Given the description of an element on the screen output the (x, y) to click on. 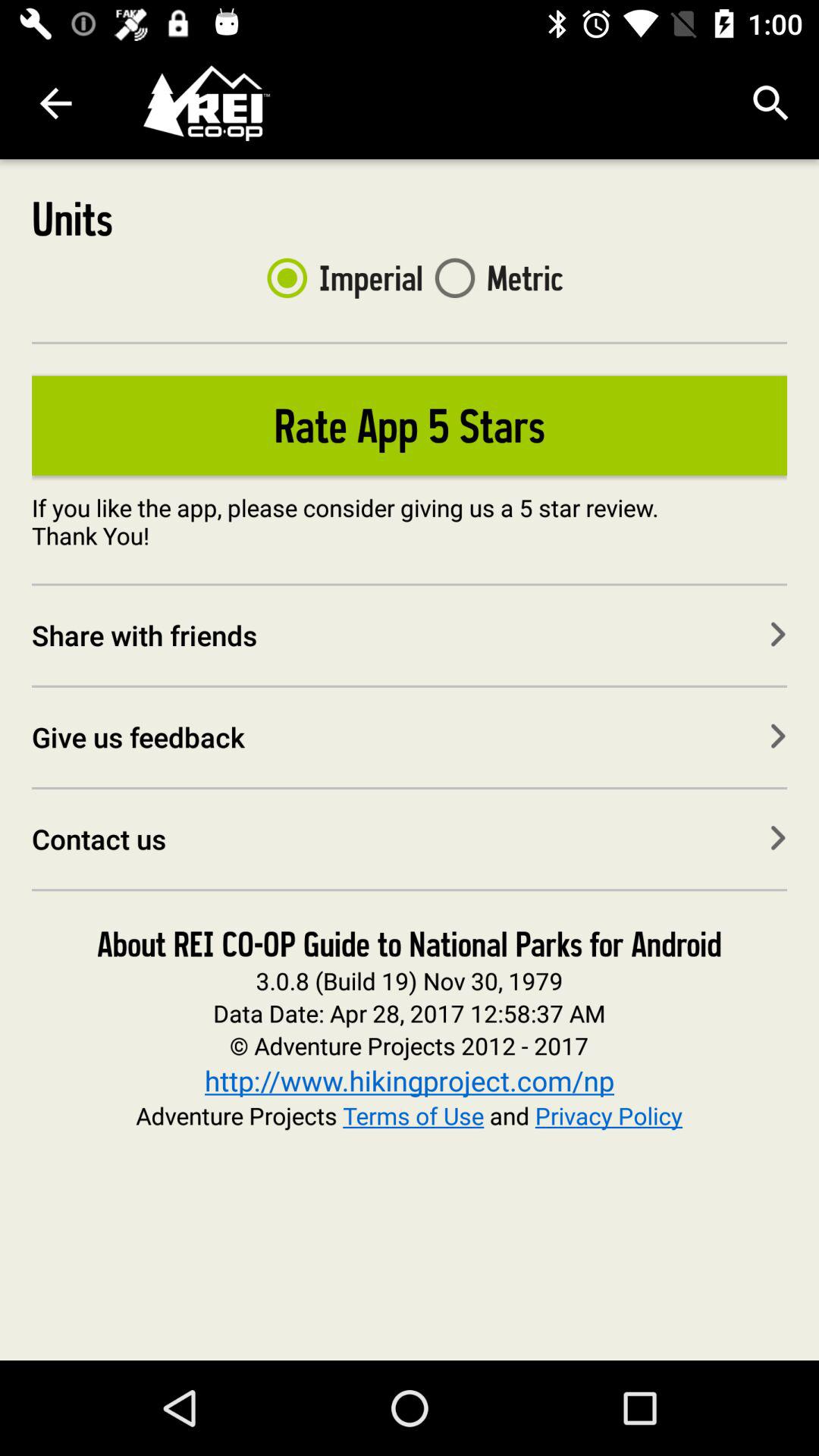
press icon next to metric icon (339, 277)
